Given the description of an element on the screen output the (x, y) to click on. 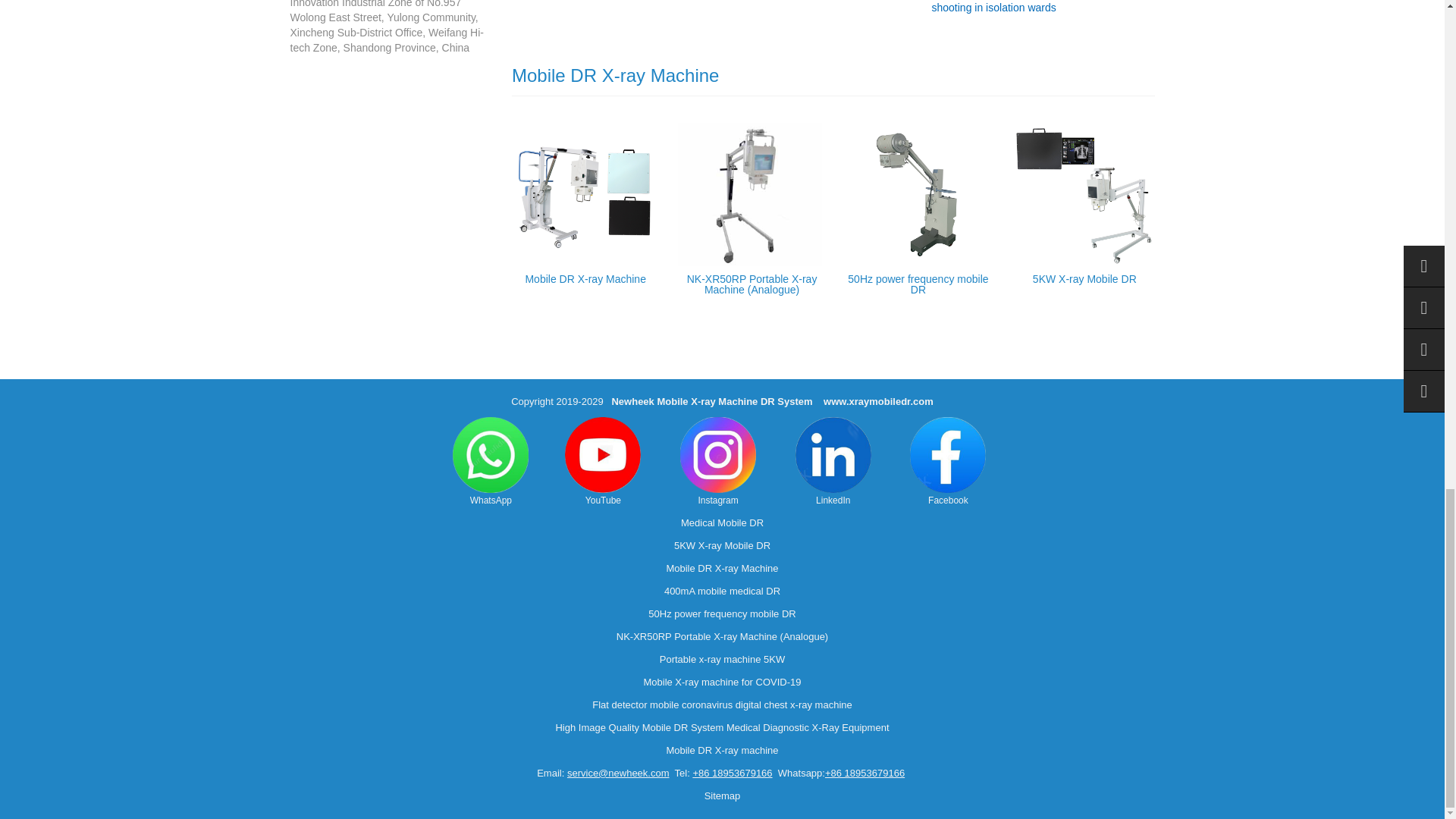
5KW X-ray Mobile DR (1084, 278)
50Hz power frequency mobile DR (917, 283)
5KW X-ray Mobile DR (1084, 278)
Mobile DR X-ray Machine (585, 278)
Mobile DR X-ray Machine (585, 278)
50Hz power frequency mobile DR (917, 283)
